Given the description of an element on the screen output the (x, y) to click on. 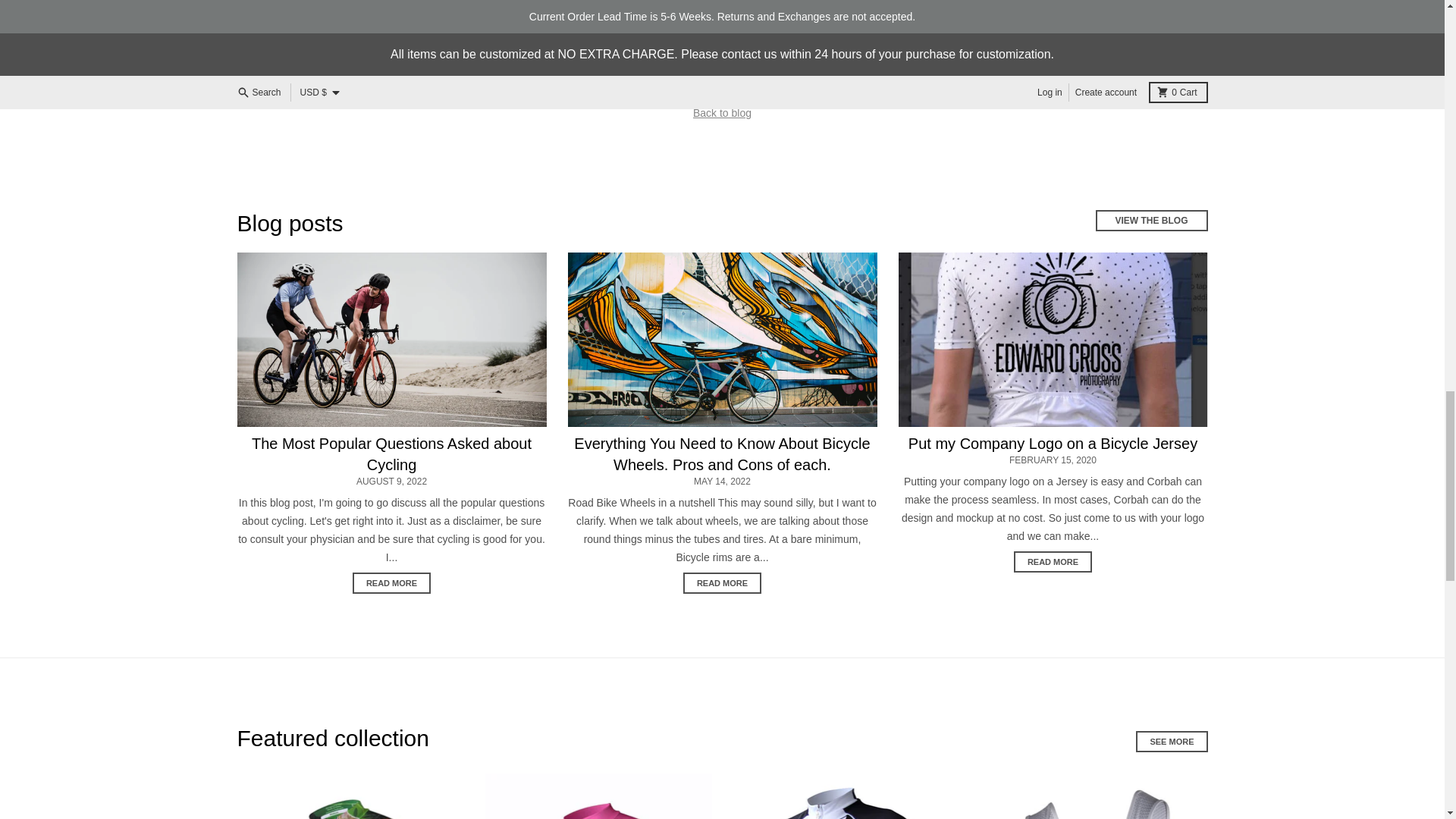
Pinterest (569, 13)
READ MORE (391, 582)
VIEW THE BLOG (1150, 219)
The Most Popular Questions Asked about Cycling (391, 453)
Twitter (501, 13)
Facebook (434, 13)
NEWER POST (662, 82)
OLDER POST (782, 82)
Back to blog (722, 112)
